Given the description of an element on the screen output the (x, y) to click on. 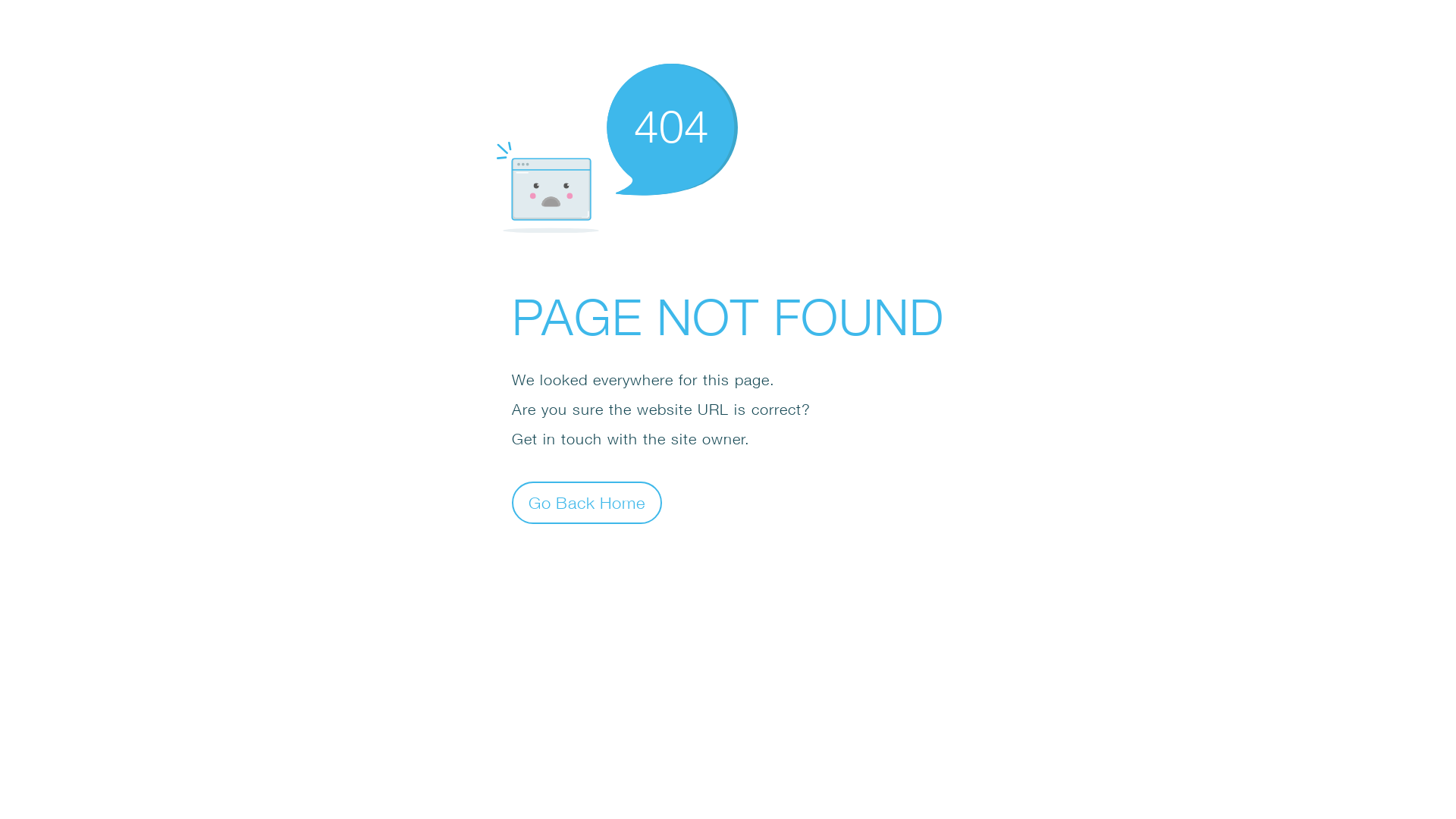
Go Back Home Element type: text (586, 502)
